Given the description of an element on the screen output the (x, y) to click on. 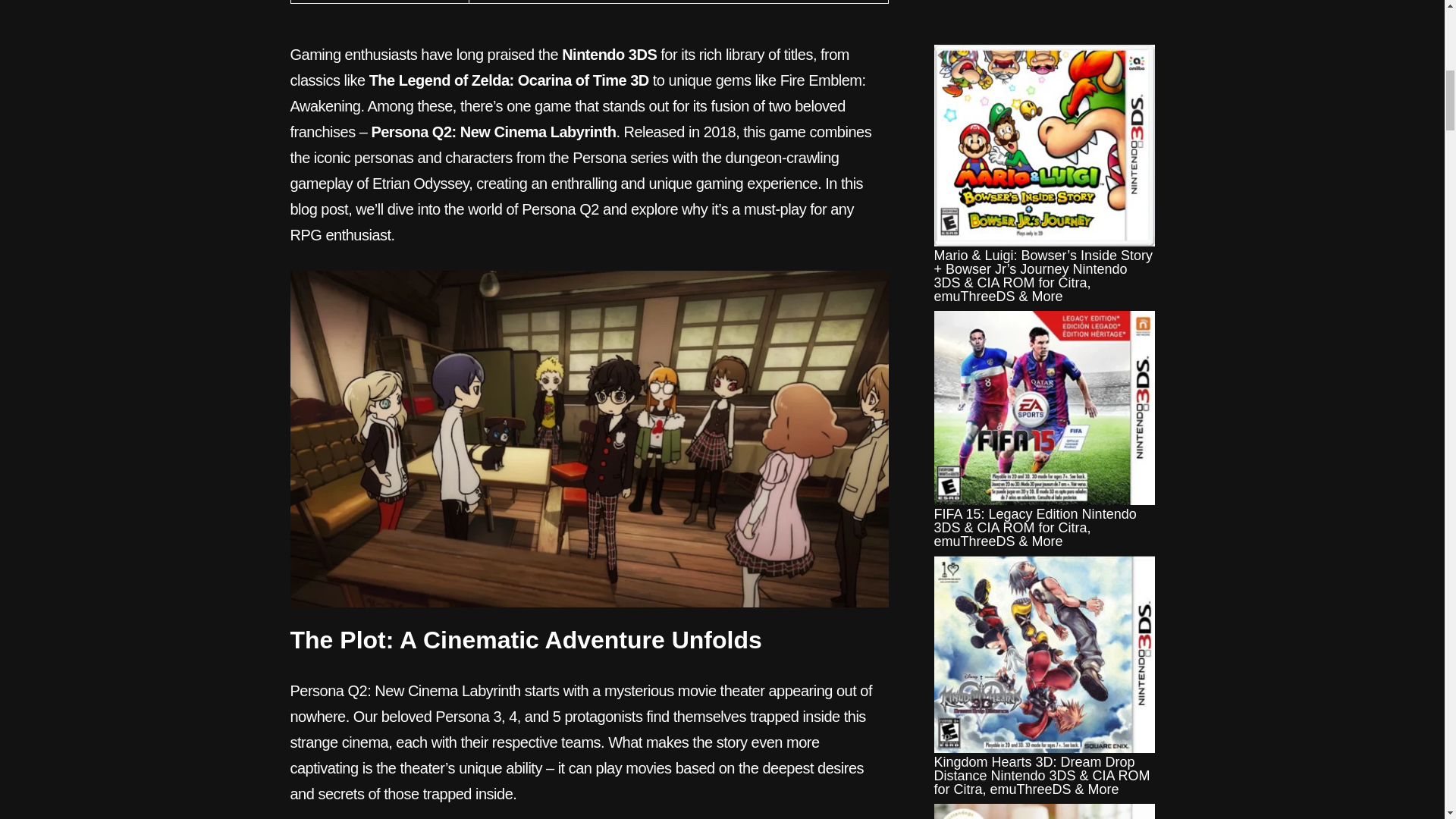
Advertisement (1044, 7)
